Given the description of an element on the screen output the (x, y) to click on. 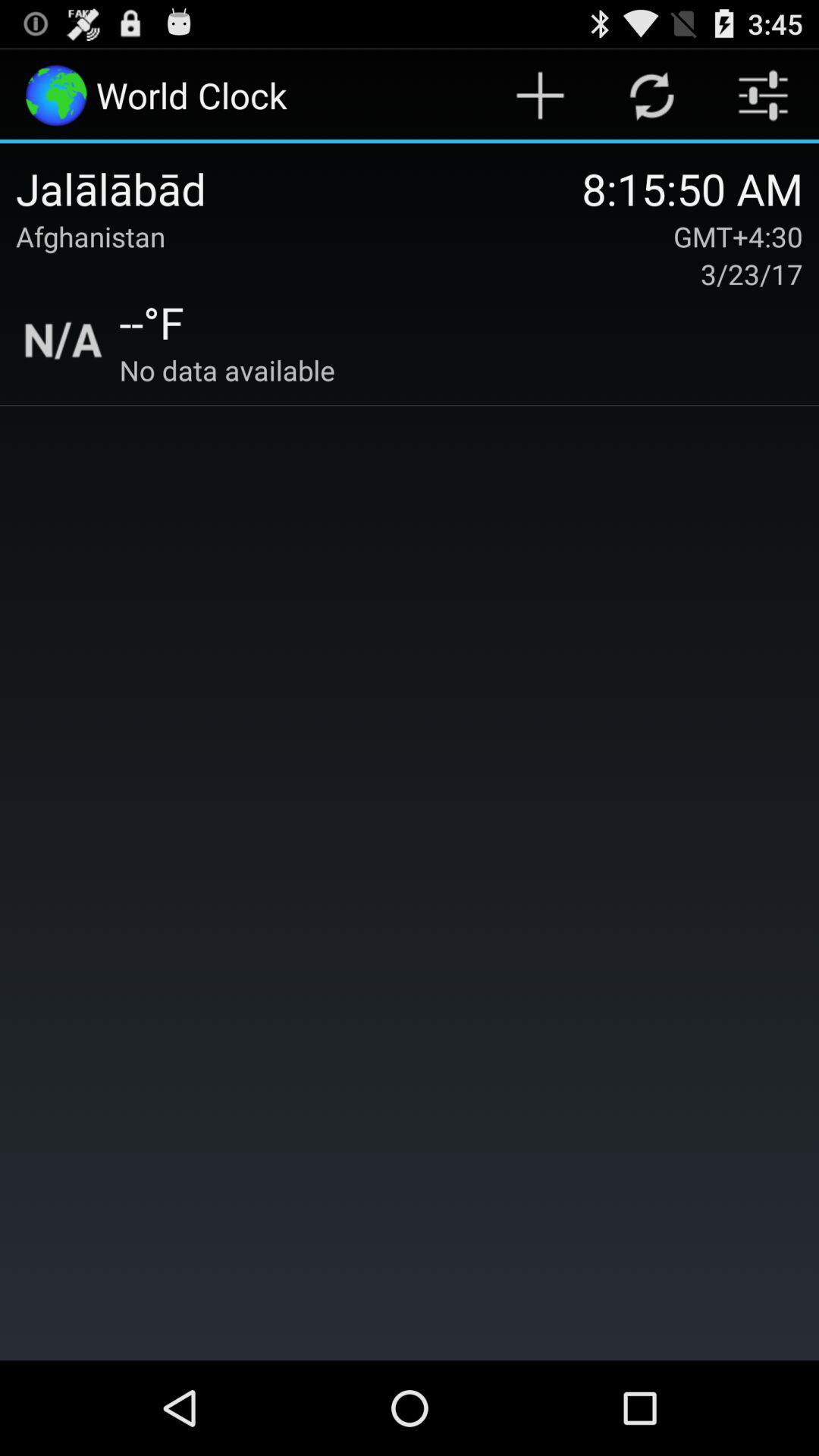
scroll until afghanistan icon (90, 236)
